Given the description of an element on the screen output the (x, y) to click on. 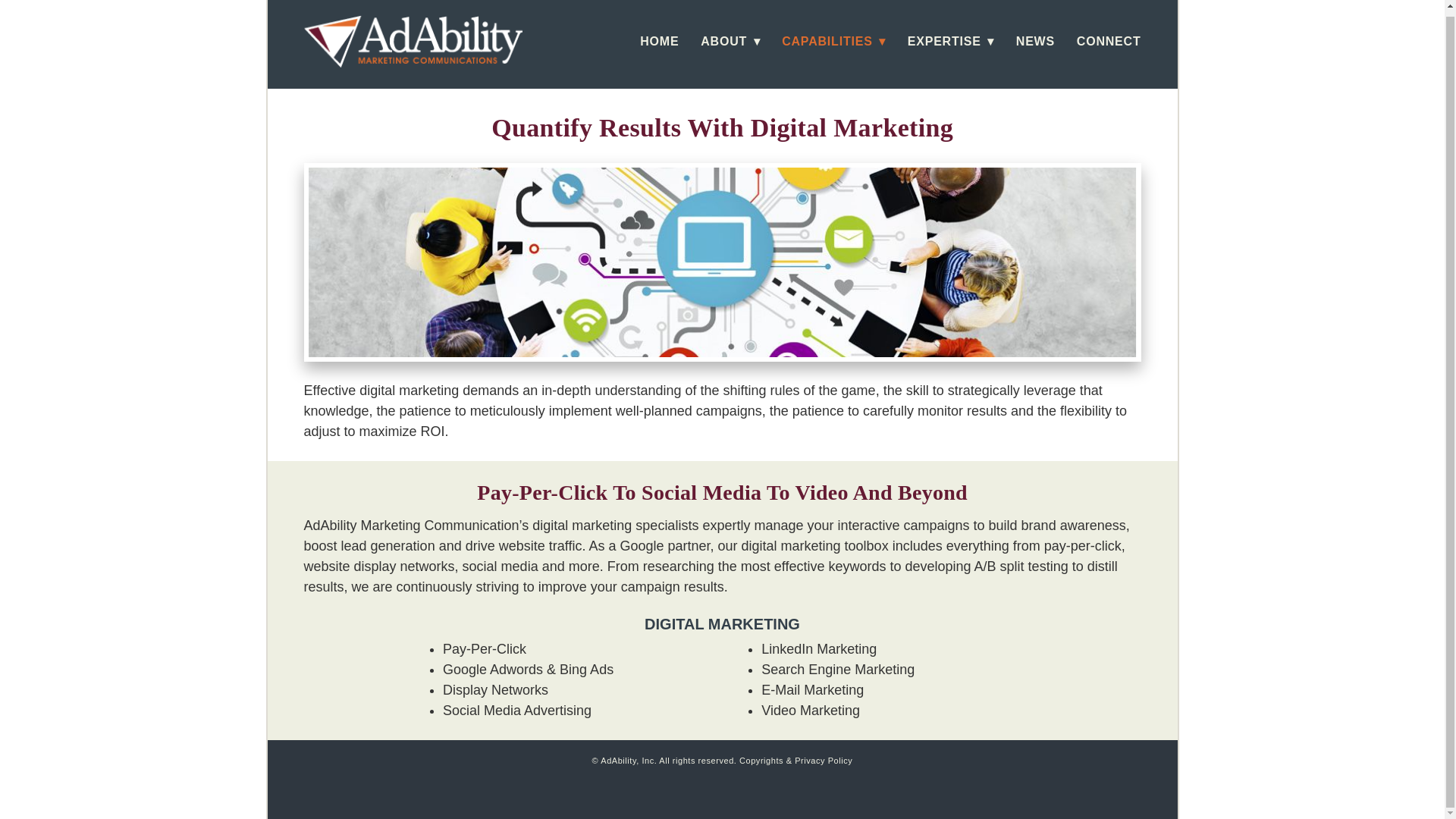
CONNECT (1109, 41)
AdAbility Marketing Communications (411, 41)
HOME (659, 41)
NEWS (1035, 41)
